Given the description of an element on the screen output the (x, y) to click on. 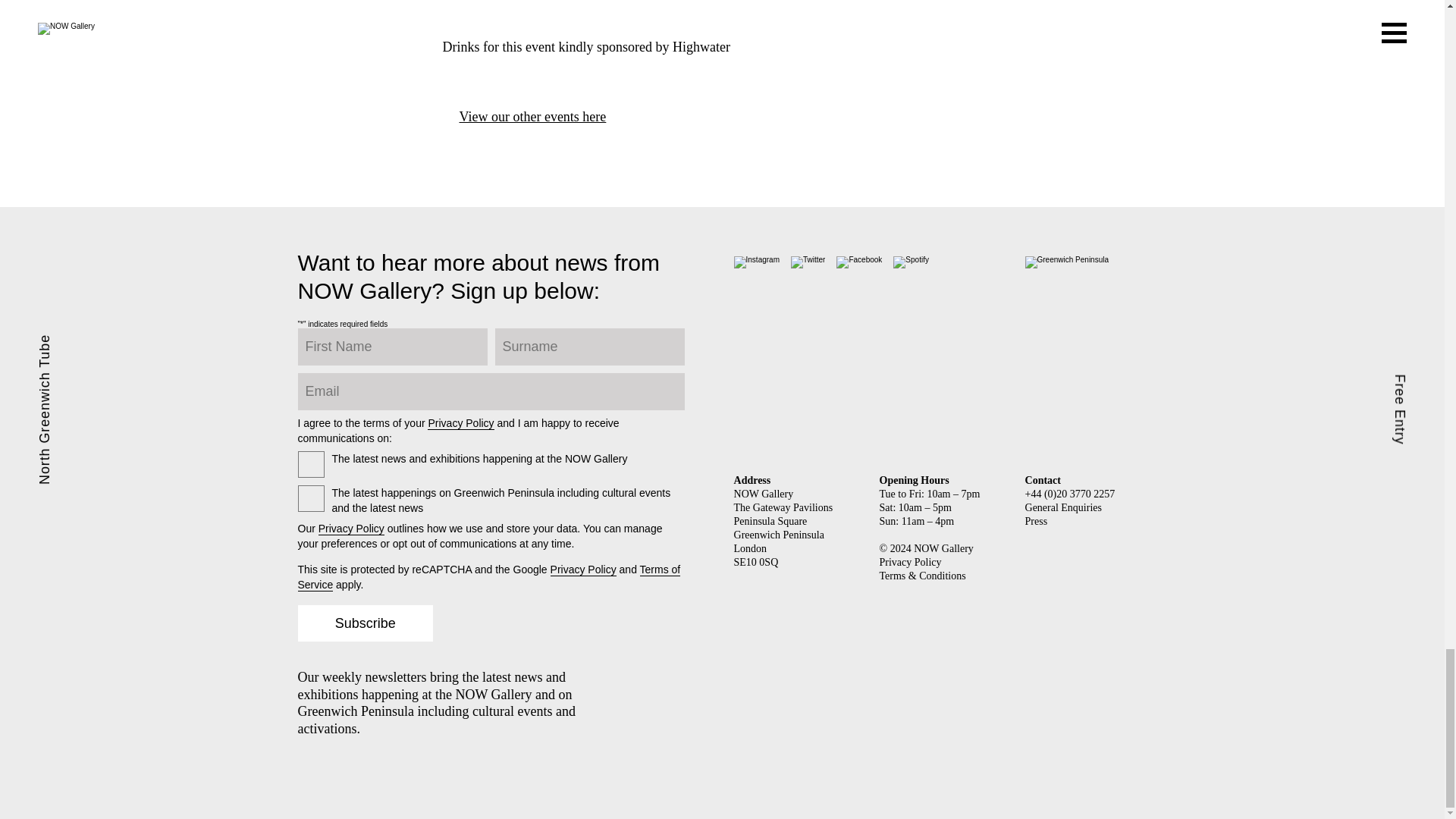
Terms of Service (488, 577)
General Enquiries (1063, 507)
Subscribe (364, 623)
Subscribe (364, 623)
Privacy Policy (910, 562)
Privacy Policy (460, 422)
View our other events here (524, 116)
Privacy Policy (351, 528)
